Given the description of an element on the screen output the (x, y) to click on. 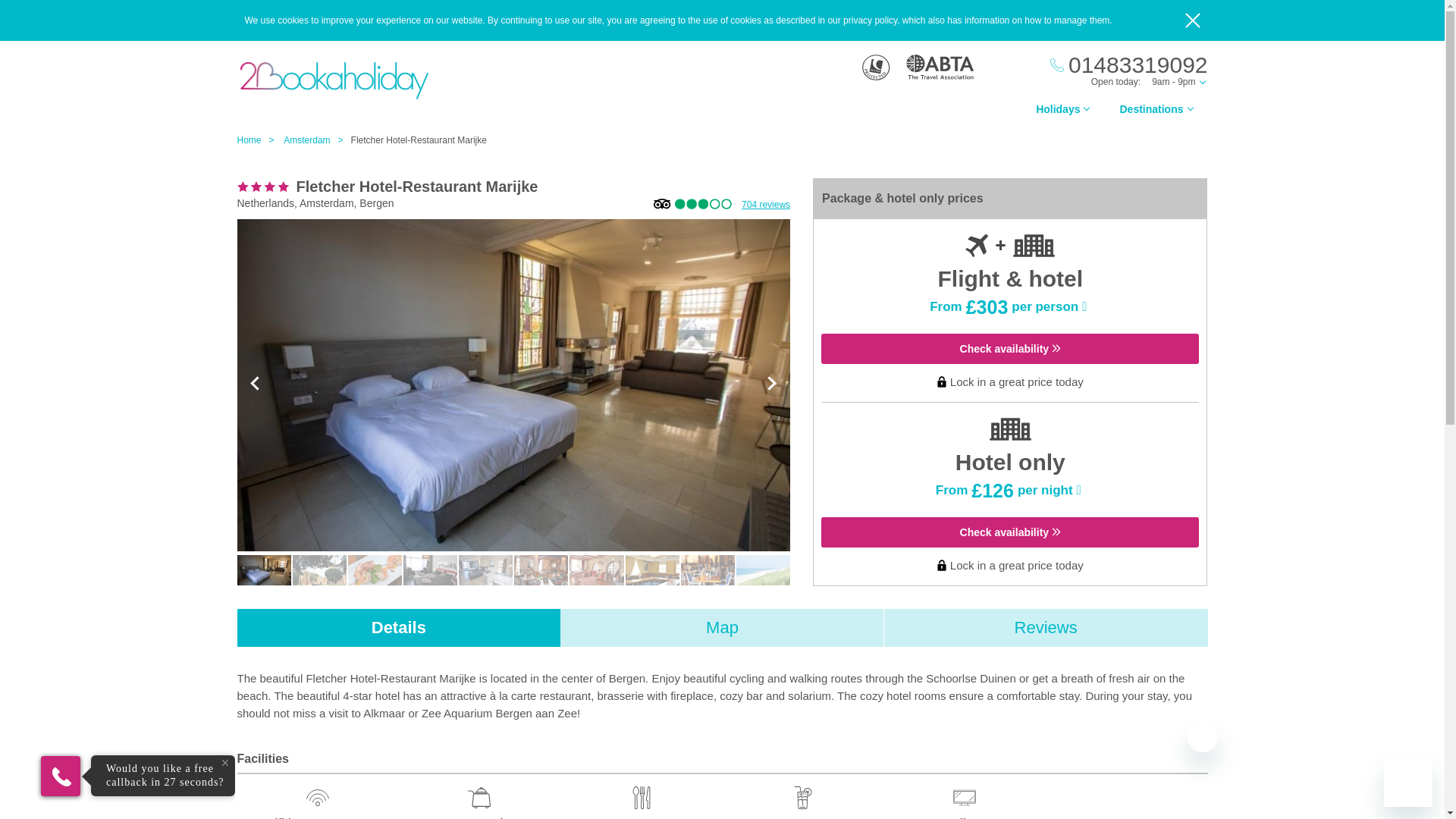
Close message (1202, 736)
Holidays (1061, 112)
Destinations (1155, 112)
01483319092 (1128, 65)
Button to launch messaging window (1408, 782)
